Given the description of an element on the screen output the (x, y) to click on. 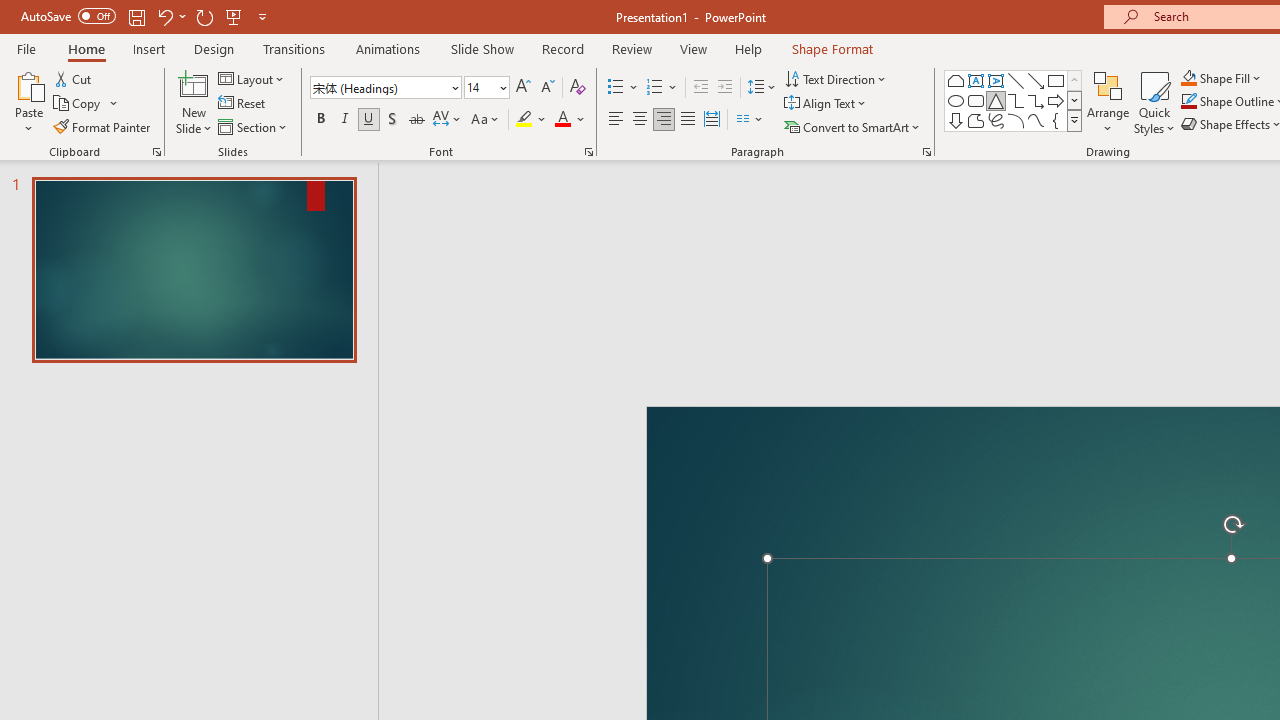
Shape Outline Blue, Accent 1 (1188, 101)
